Given the description of an element on the screen output the (x, y) to click on. 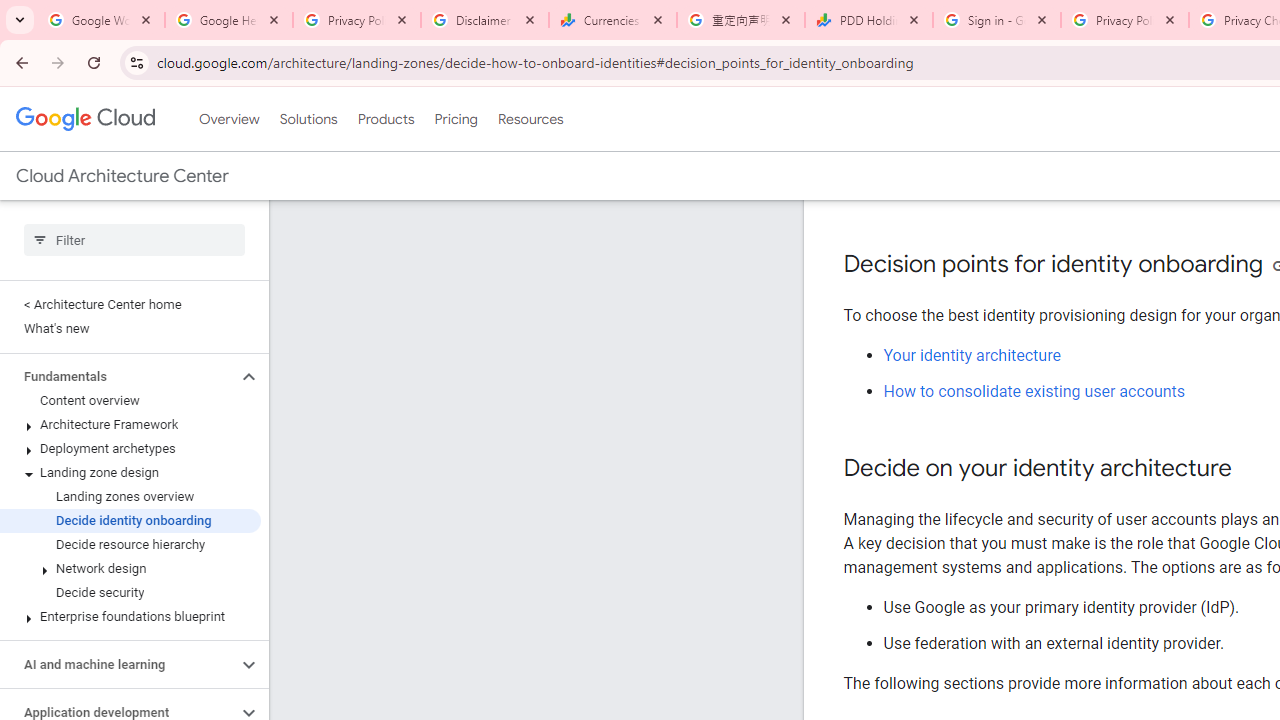
Type to filter (134, 239)
Google Cloud (84, 118)
Architecture Framework (130, 425)
Cloud Architecture Center (122, 175)
Google Workspace Admin Community (101, 20)
Solutions (308, 119)
Your identity architecture (972, 355)
PDD Holdings Inc - ADR (PDD) Price & News - Google Finance (869, 20)
